Given the description of an element on the screen output the (x, y) to click on. 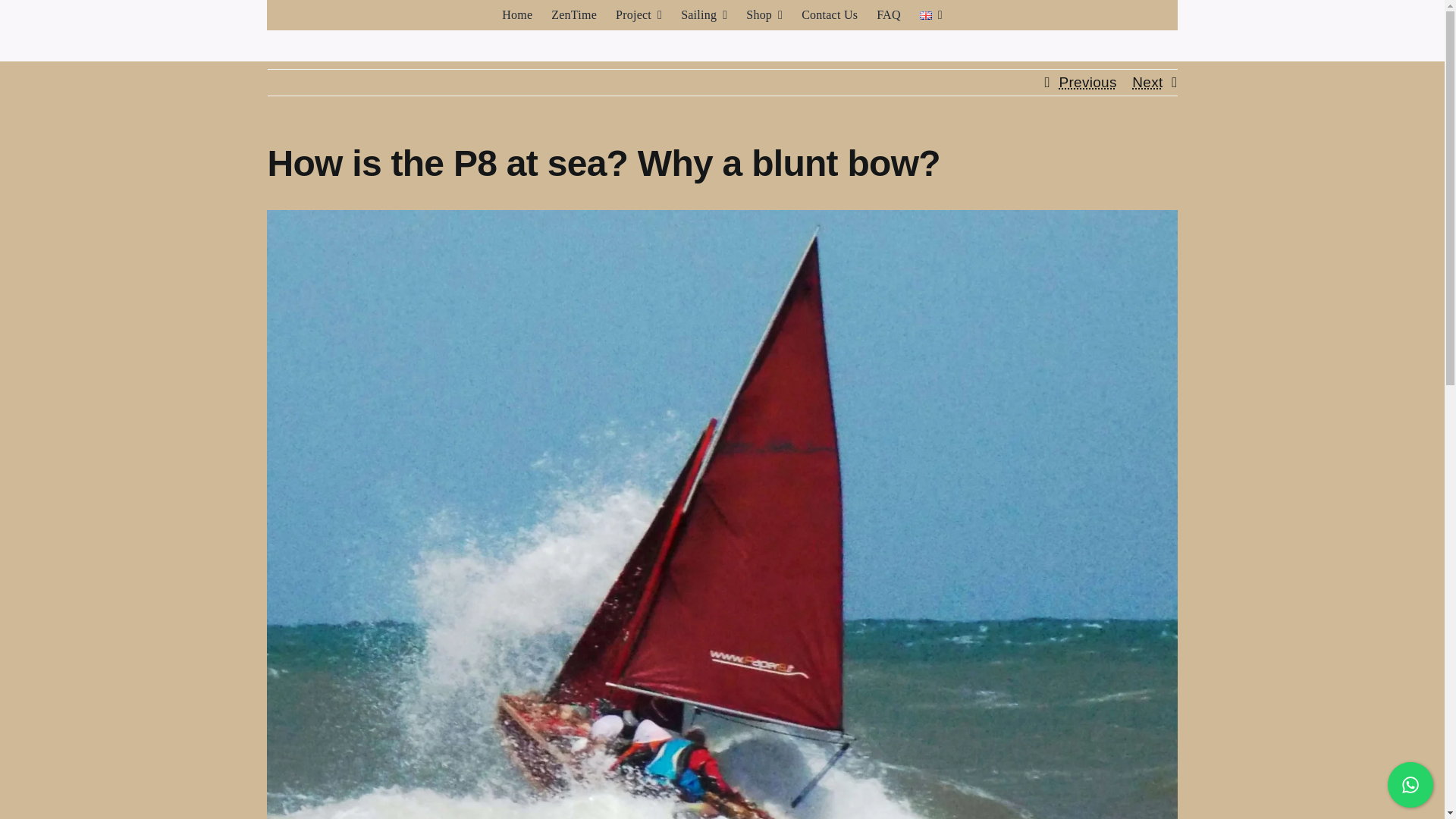
Next (1146, 82)
Project (638, 14)
Contact Us (829, 14)
FAQ (888, 14)
Shop (764, 14)
Sailing (703, 14)
ZenTime (573, 14)
Home (517, 14)
Previous (1087, 82)
